Given the description of an element on the screen output the (x, y) to click on. 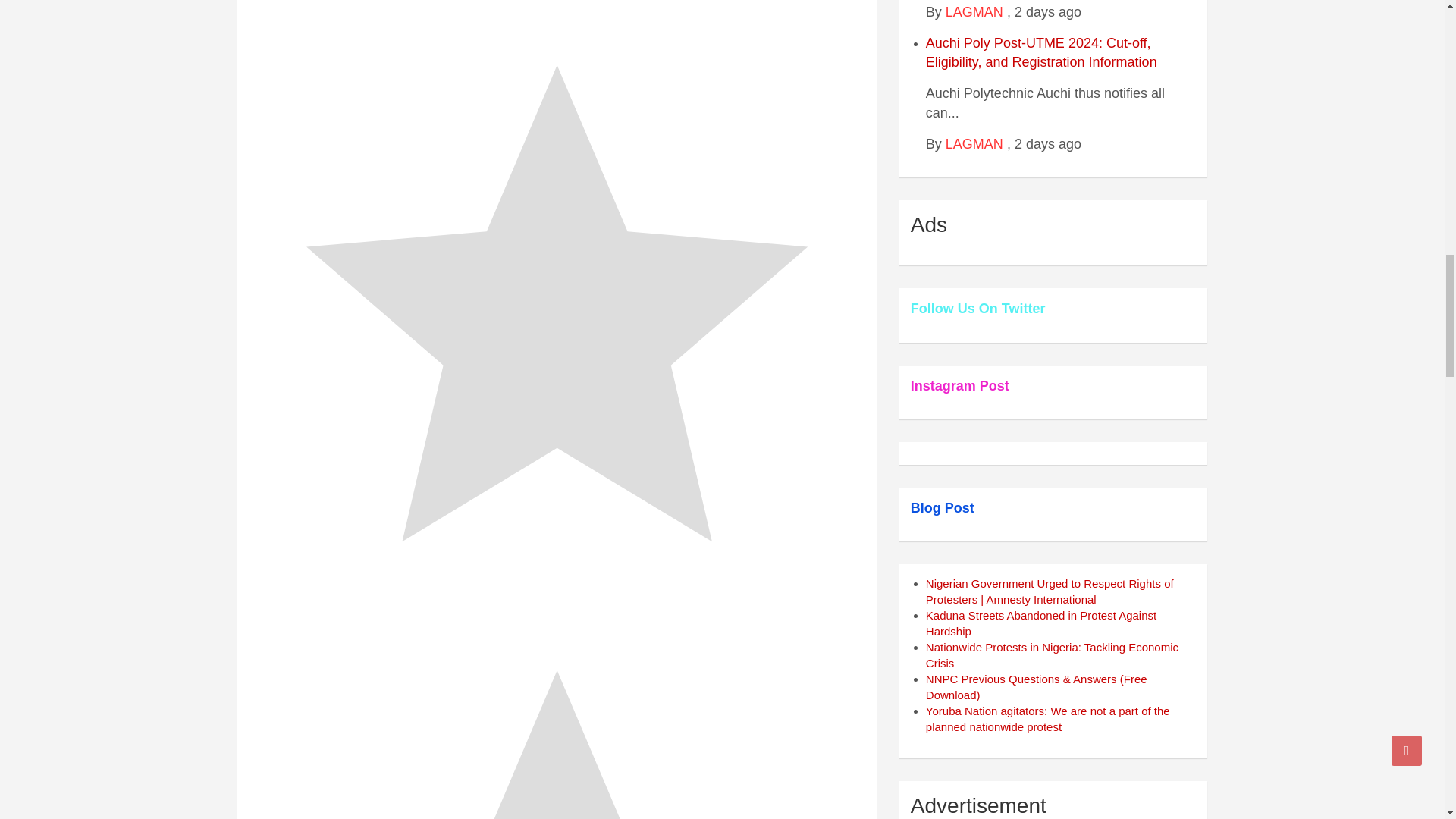
LAGMAN (973, 143)
LAGMAN (973, 11)
